Given the description of an element on the screen output the (x, y) to click on. 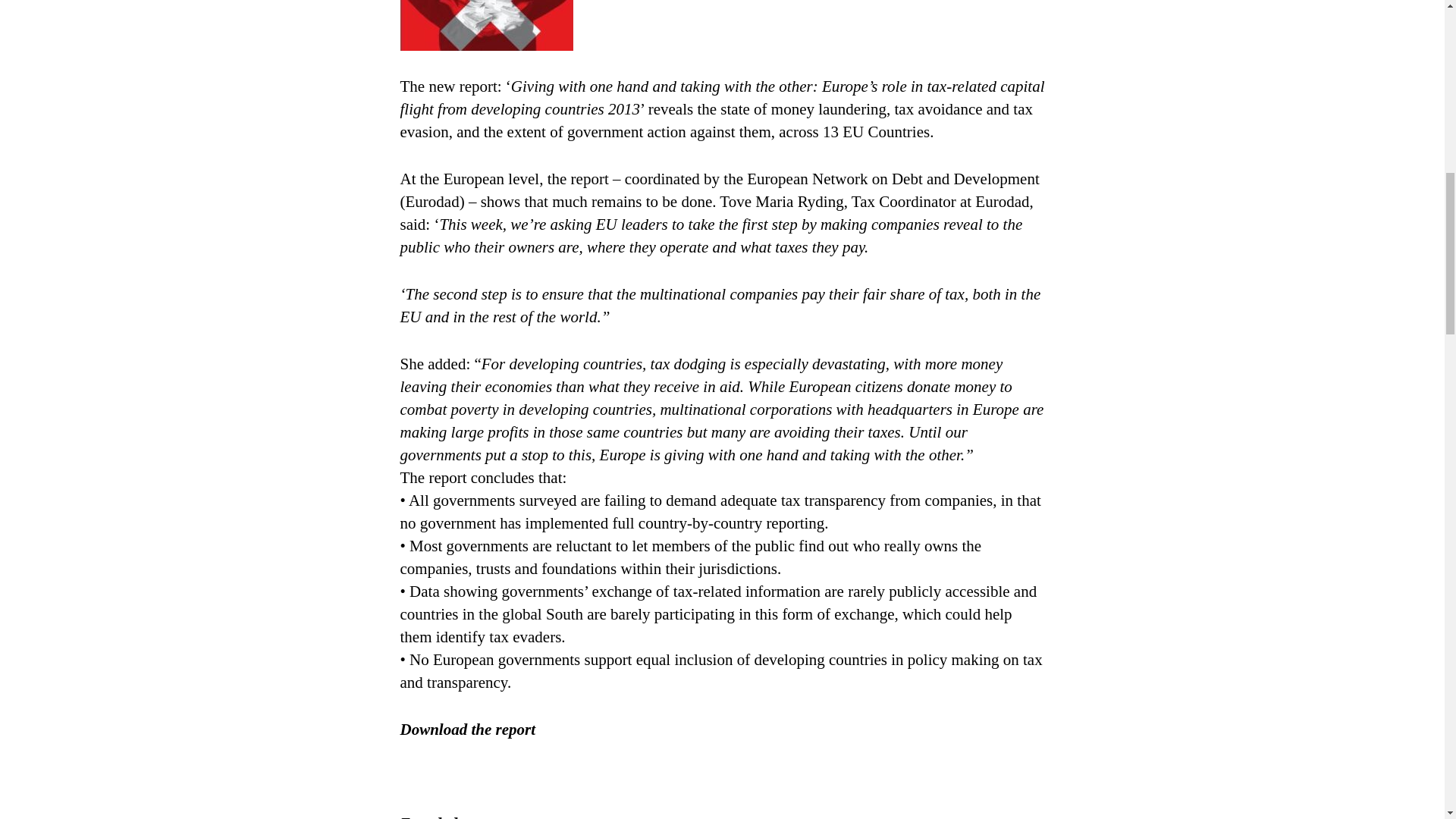
Giving with one hand and taking with the other (467, 729)
